Given the description of an element on the screen output the (x, y) to click on. 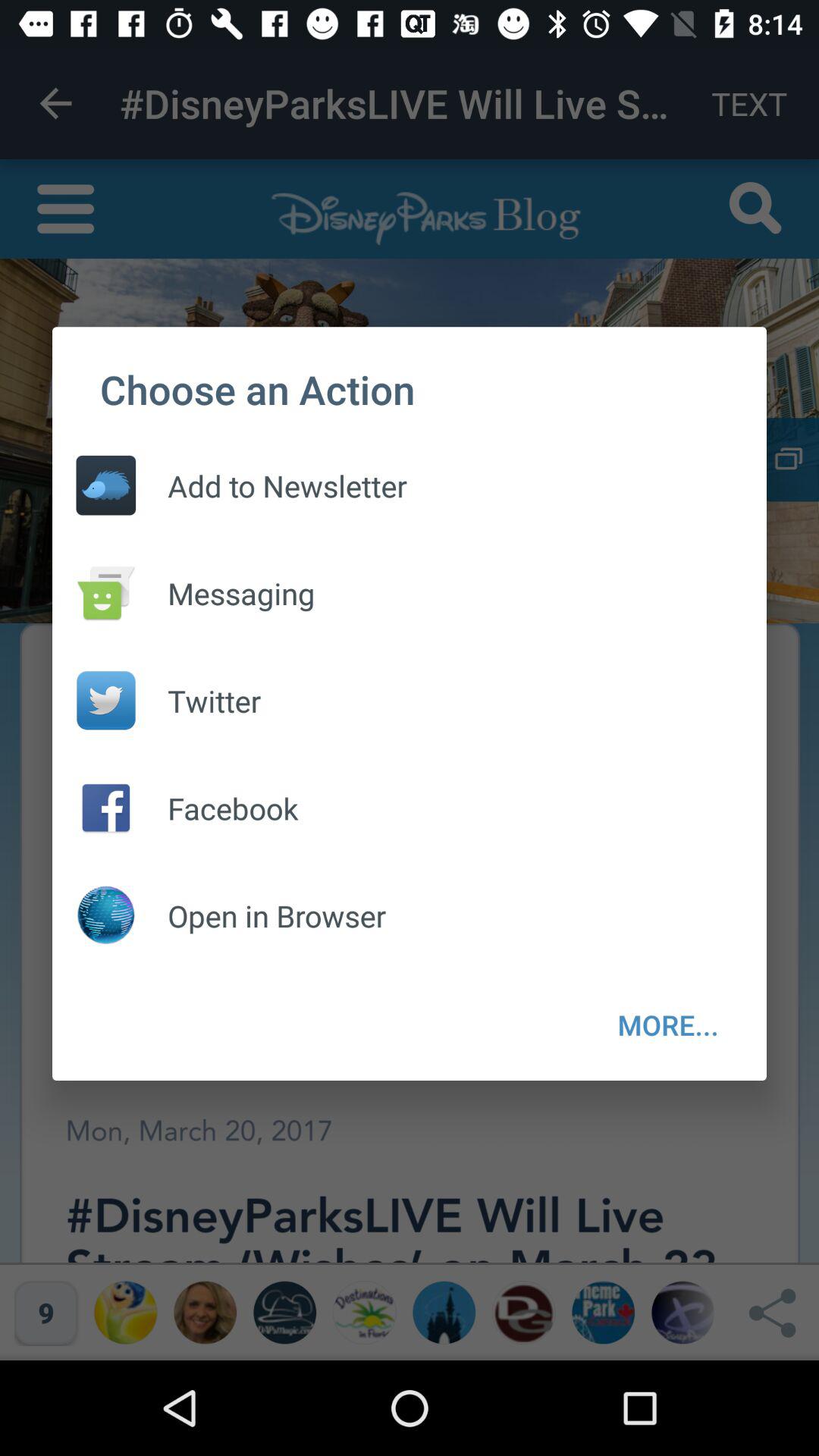
press the item below the choose an action item (667, 1024)
